Given the description of an element on the screen output the (x, y) to click on. 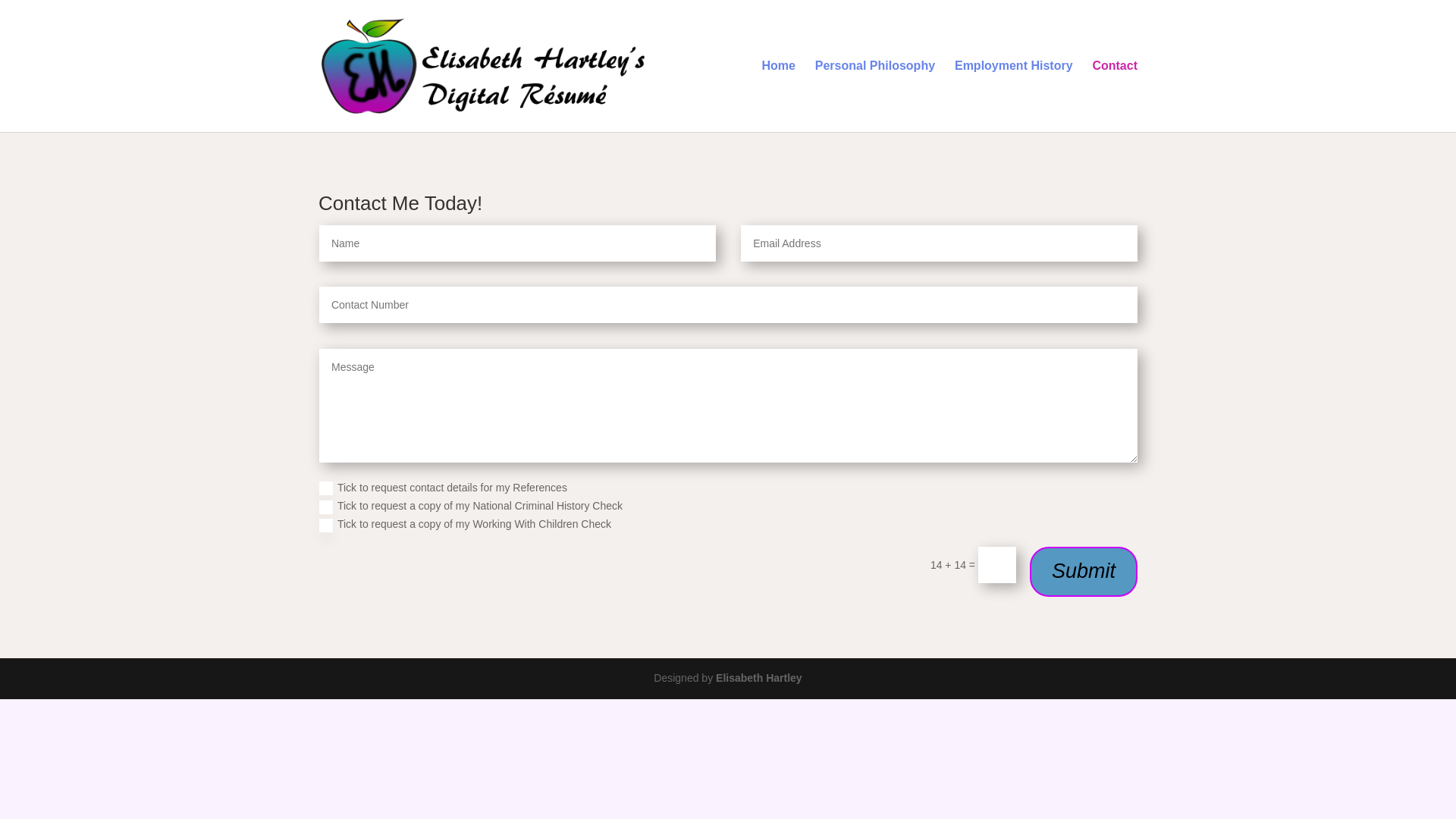
Elisabeth Hartley Element type: text (758, 677)
Contact Element type: text (1114, 95)
Personal Philosophy Element type: text (875, 95)
Home Element type: text (777, 95)
Employment History Element type: text (1013, 95)
Submit Element type: text (1083, 571)
